Given the description of an element on the screen output the (x, y) to click on. 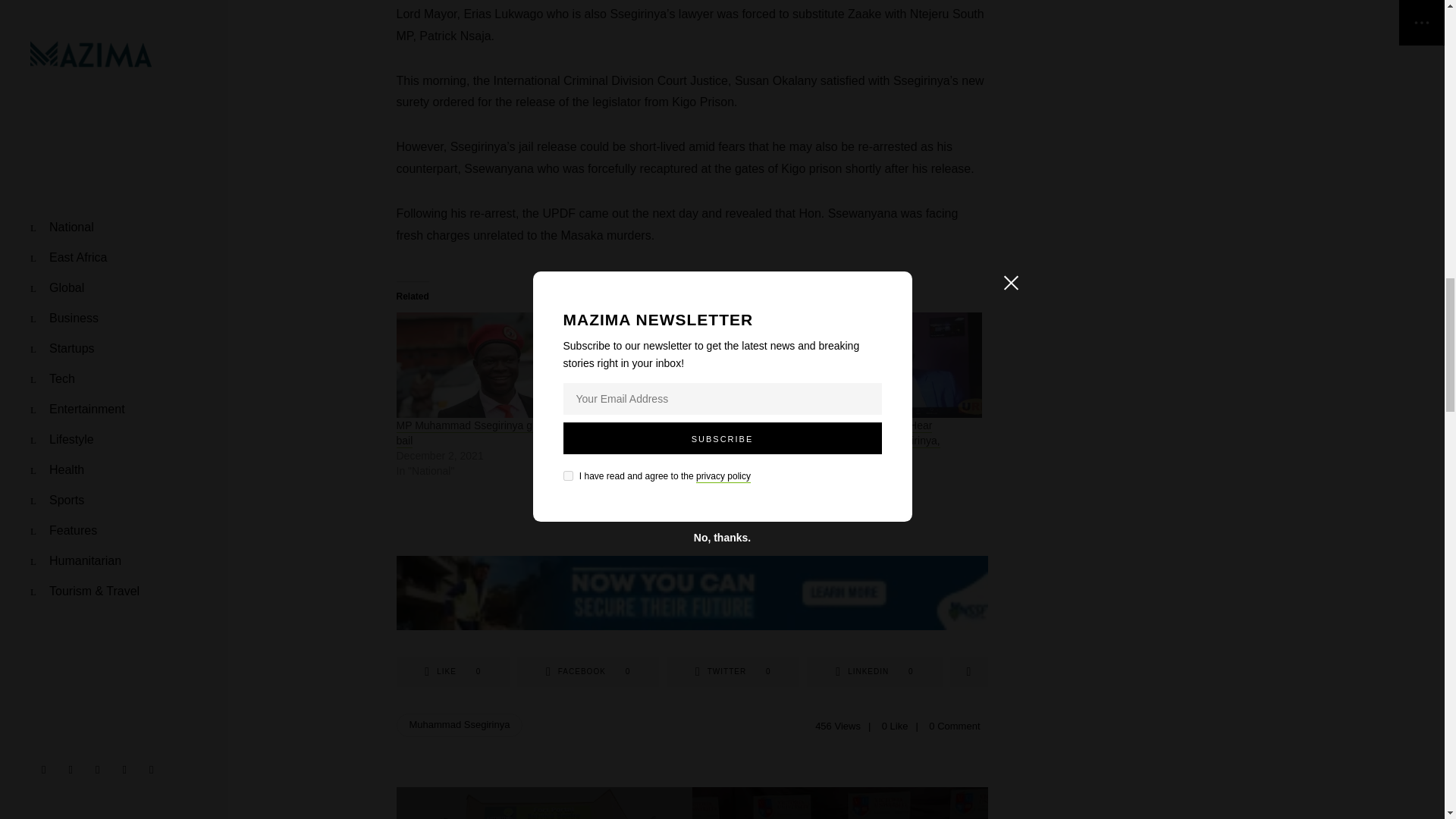
MP Muhammad Ssegirinya granted bail (479, 433)
MP Muhammad Ssegirinya granted bail (479, 433)
MP Muhammad Ssegirinya granted bail (452, 671)
Facebook (732, 671)
Twitter (488, 364)
Like (587, 671)
